Given the description of an element on the screen output the (x, y) to click on. 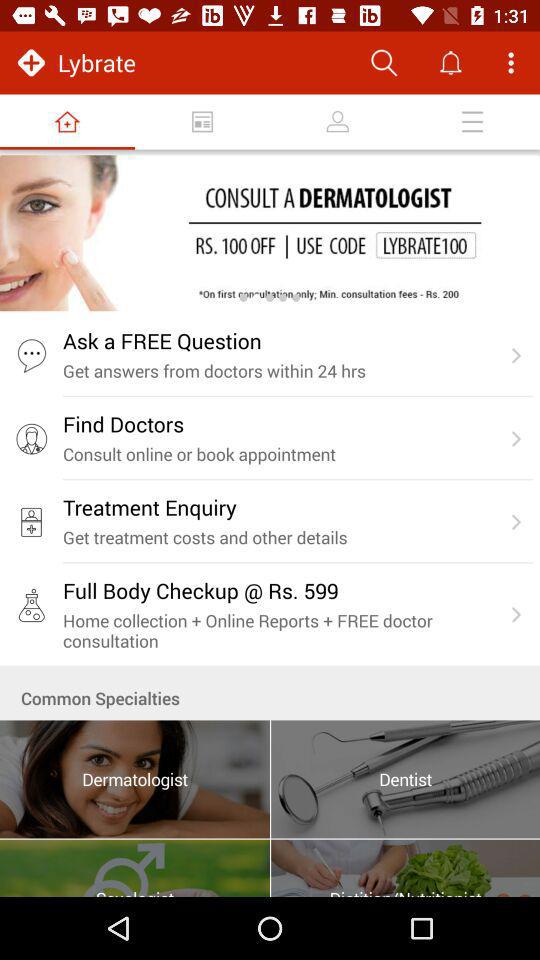
visit the advertiser 's website (270, 233)
